Given the description of an element on the screen output the (x, y) to click on. 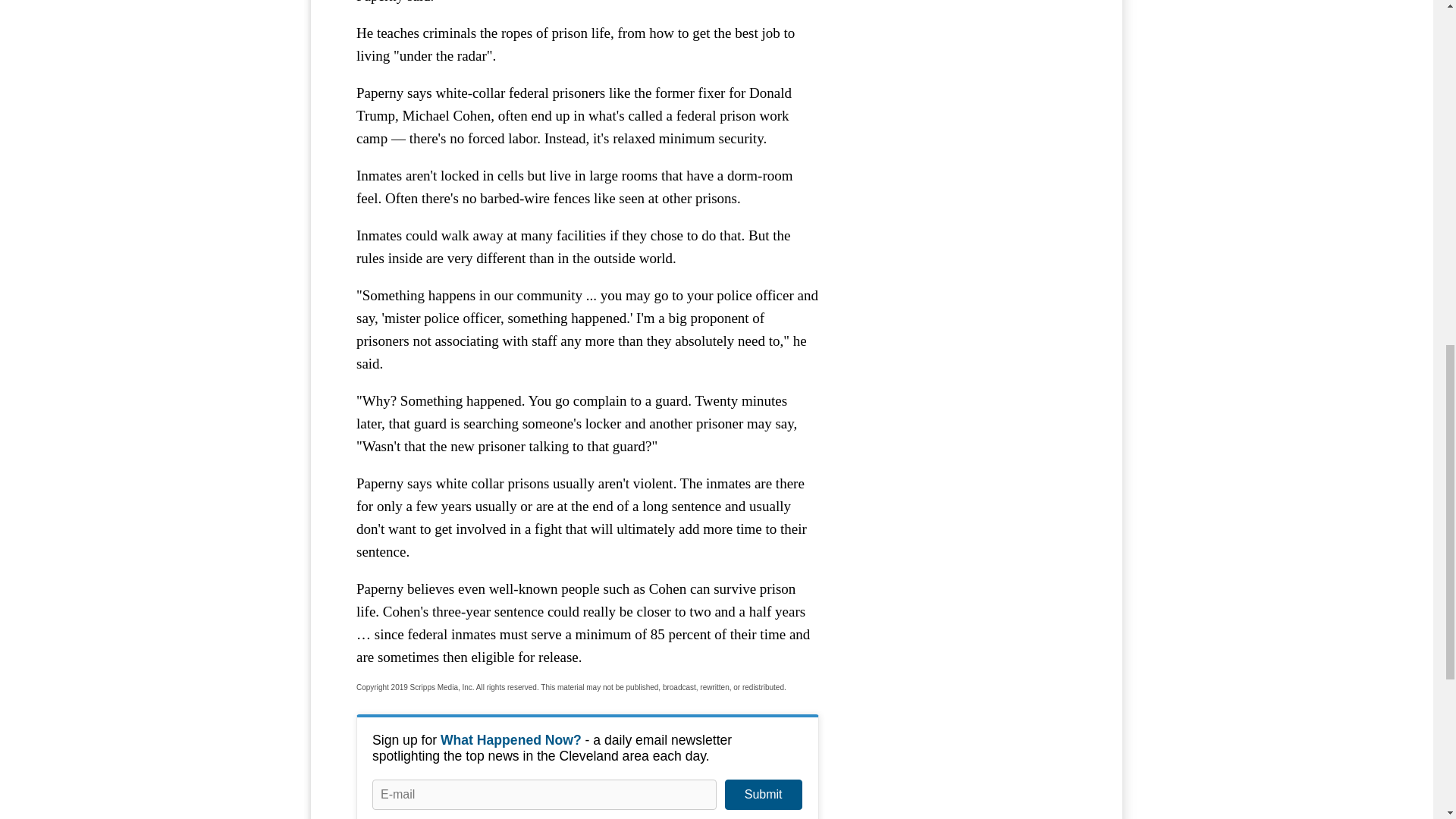
Submit (763, 794)
